Given the description of an element on the screen output the (x, y) to click on. 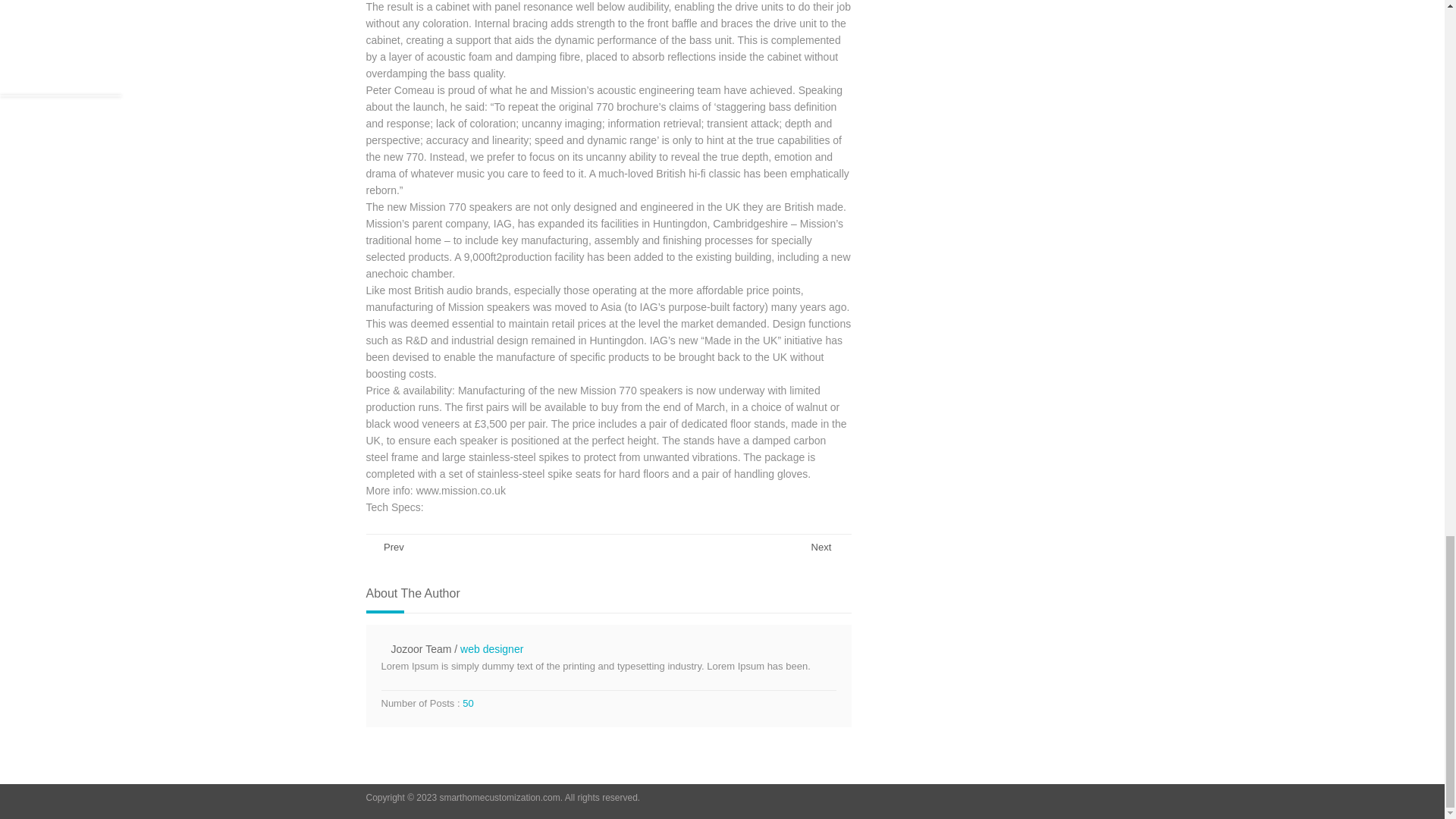
5 Best Collage Apps for Instagram Stories in 2022 (830, 547)
Next   (830, 547)
Prev (384, 547)
